Given the description of an element on the screen output the (x, y) to click on. 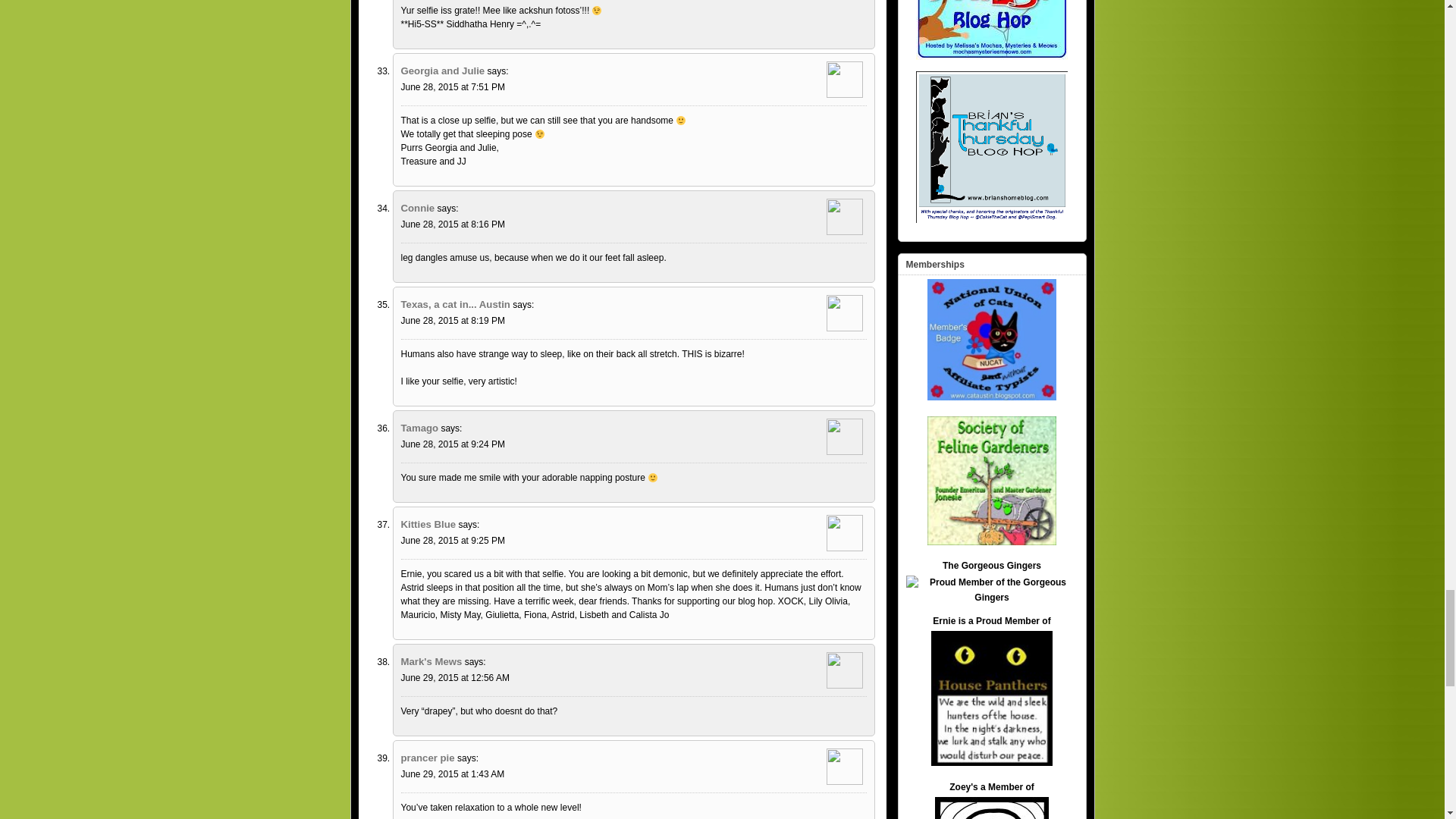
housepanthers07-17511 (991, 697)
tcclogo (991, 807)
